Given the description of an element on the screen output the (x, y) to click on. 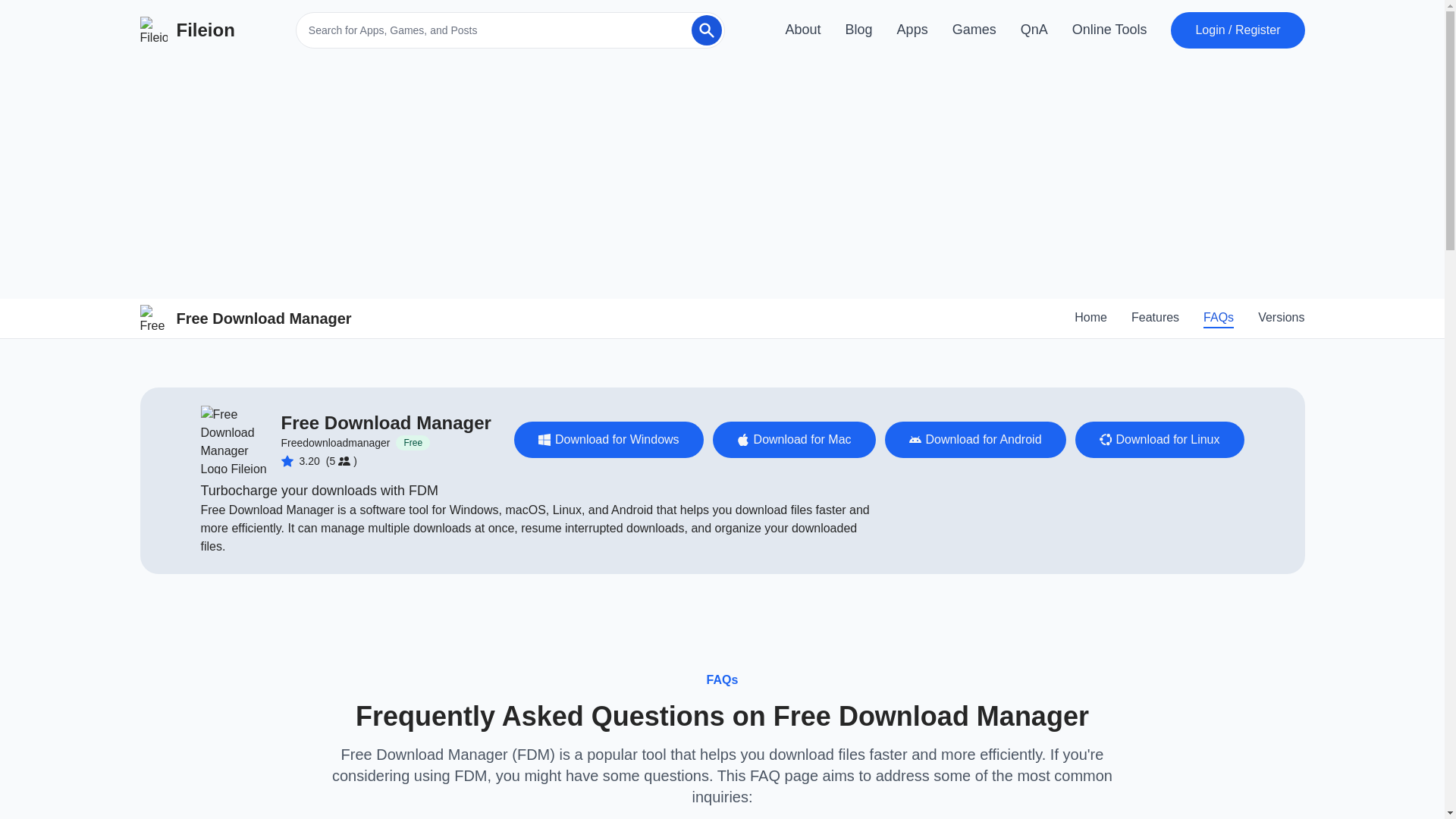
Games (973, 29)
Versions (1280, 318)
Free Download Manager (244, 318)
Download for Linux (1159, 439)
Download for Android (975, 439)
Free Download Manager (385, 422)
Home (1090, 318)
About (803, 29)
Fileion (186, 30)
Online Tools (1109, 29)
